Given the description of an element on the screen output the (x, y) to click on. 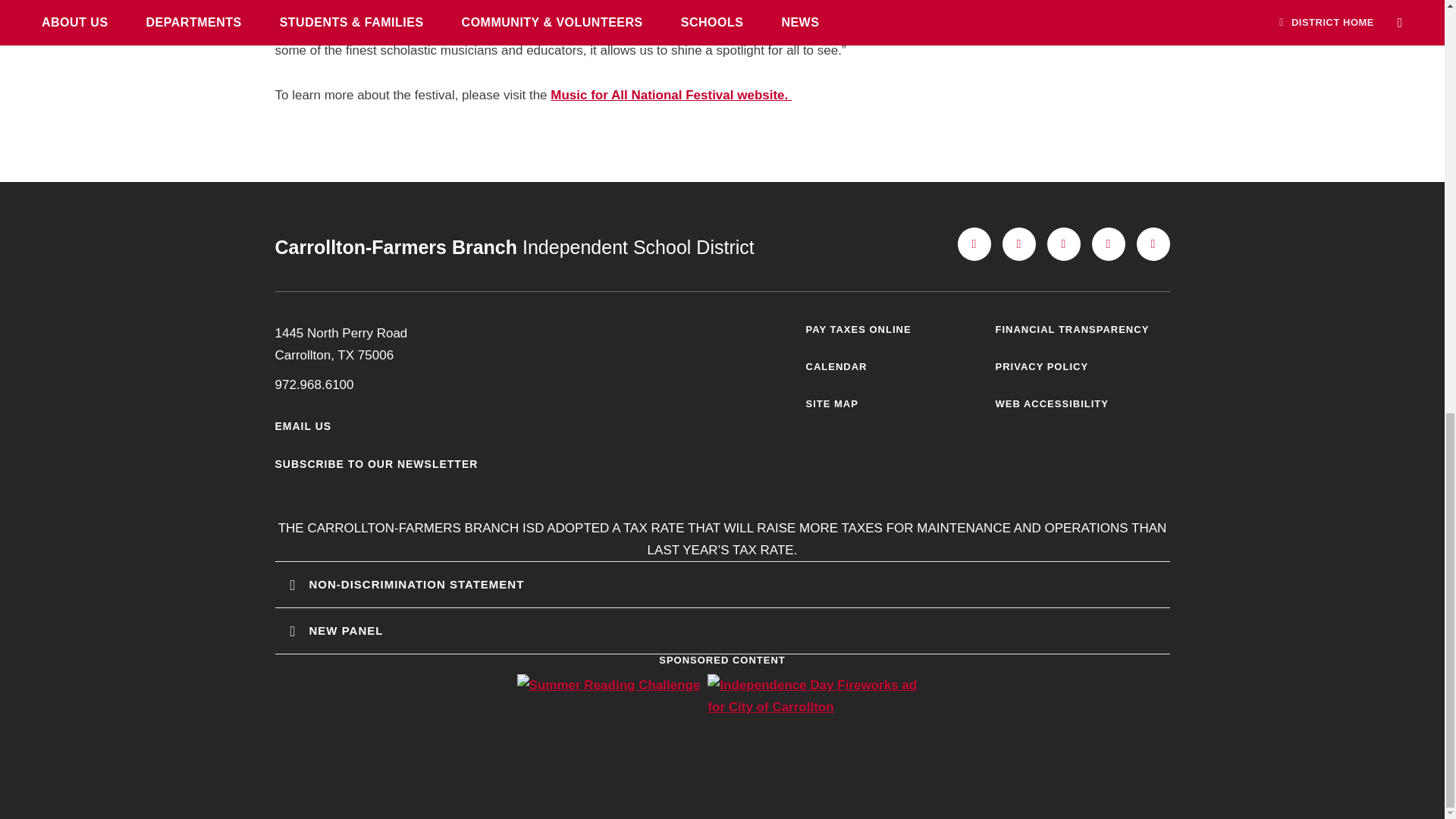
Powered by Finalsite opens in a new window (721, 808)
